Given the description of an element on the screen output the (x, y) to click on. 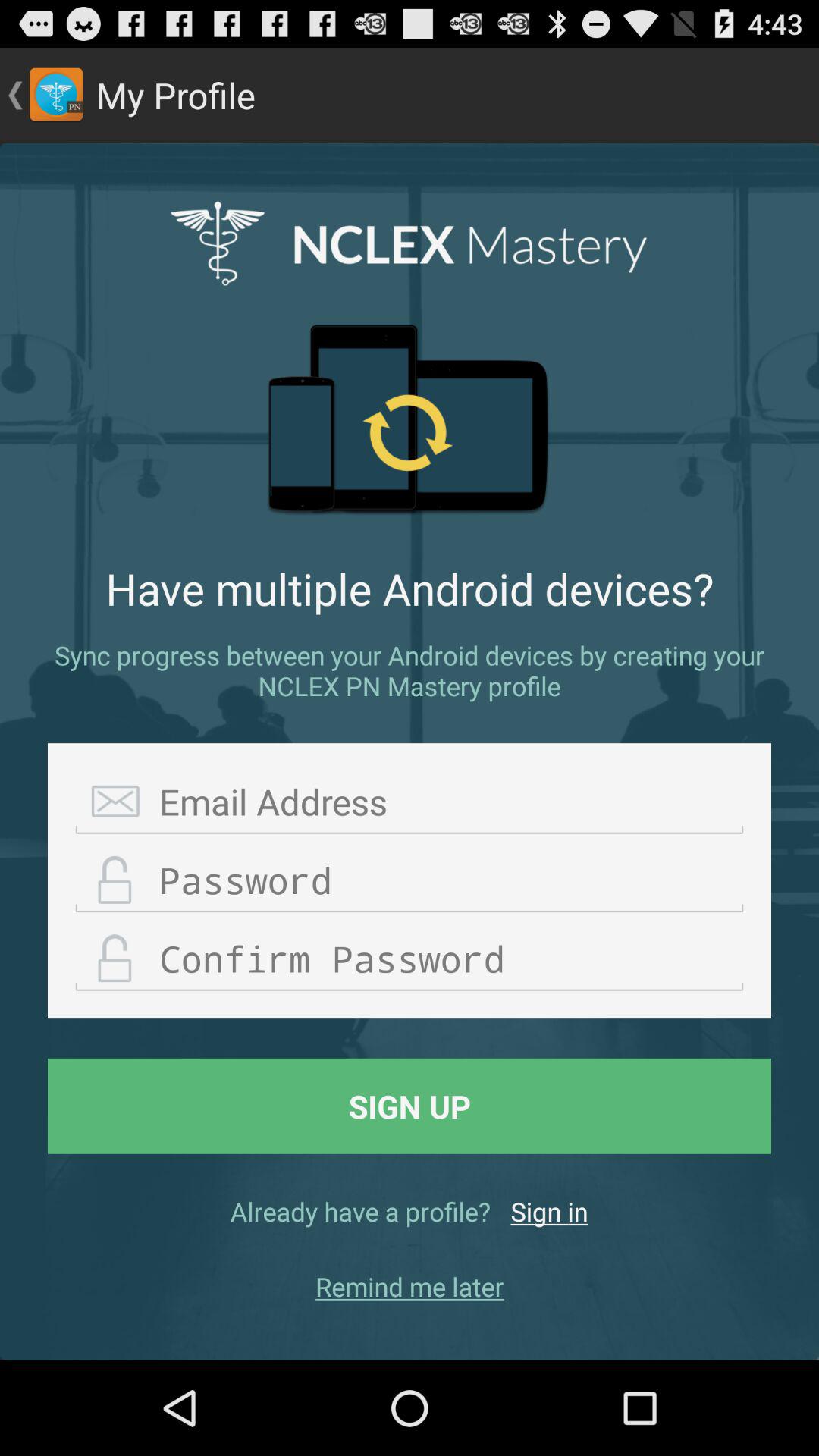
select the item above the remind me later (549, 1211)
